Given the description of an element on the screen output the (x, y) to click on. 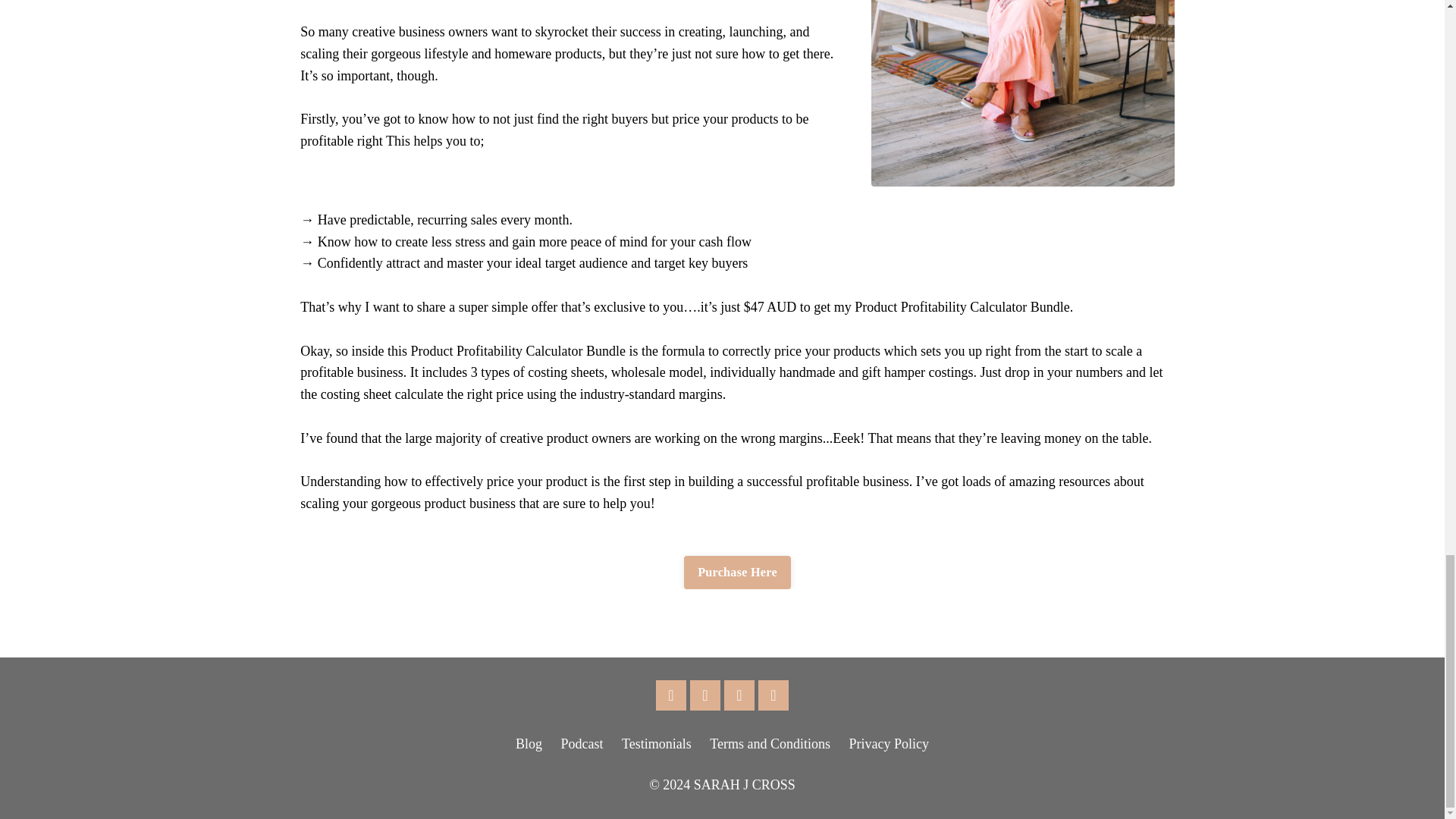
Purchase Here (737, 572)
Blog (528, 743)
Terms and Conditions (769, 743)
Privacy Policy (888, 743)
Testimonials (656, 743)
Podcast (582, 743)
